Given the description of an element on the screen output the (x, y) to click on. 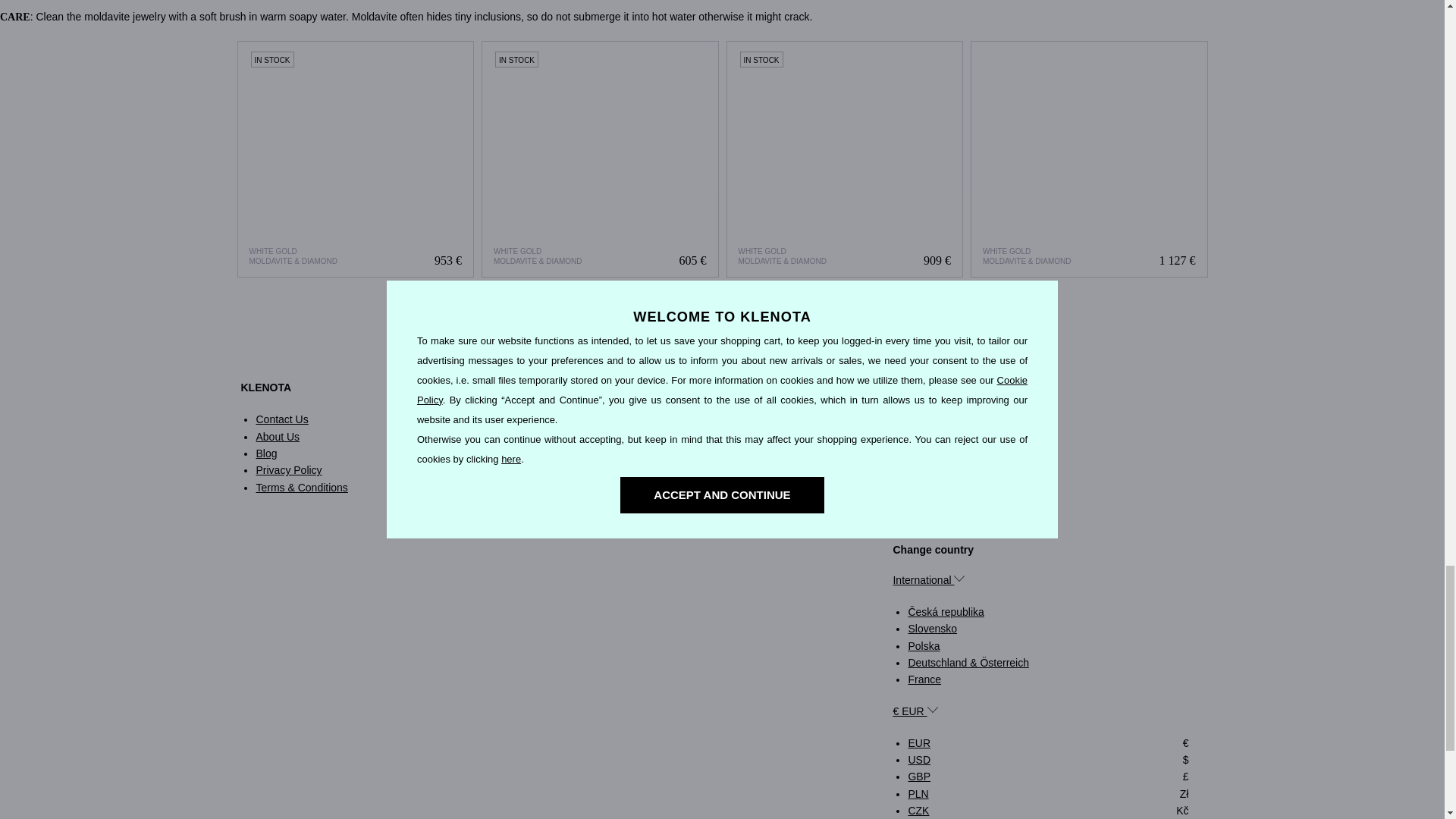
Moldavite and Diamond Earrings in White Gold (1089, 159)
Moldavite Necklace with Diamonds in White Gold (844, 159)
White Gold Earrings with Moldavite and Diamonds (599, 159)
Moldavite and Diamond Earrings in White Gold (1089, 159)
Moldavite Ring with Brilliants in White Gold (356, 159)
White Gold Earrings with Moldavite and Diamonds (600, 159)
Moldavite Ring with Brilliants in White Gold (354, 159)
Moldavite Necklace with Diamonds in White Gold (844, 159)
